Given the description of an element on the screen output the (x, y) to click on. 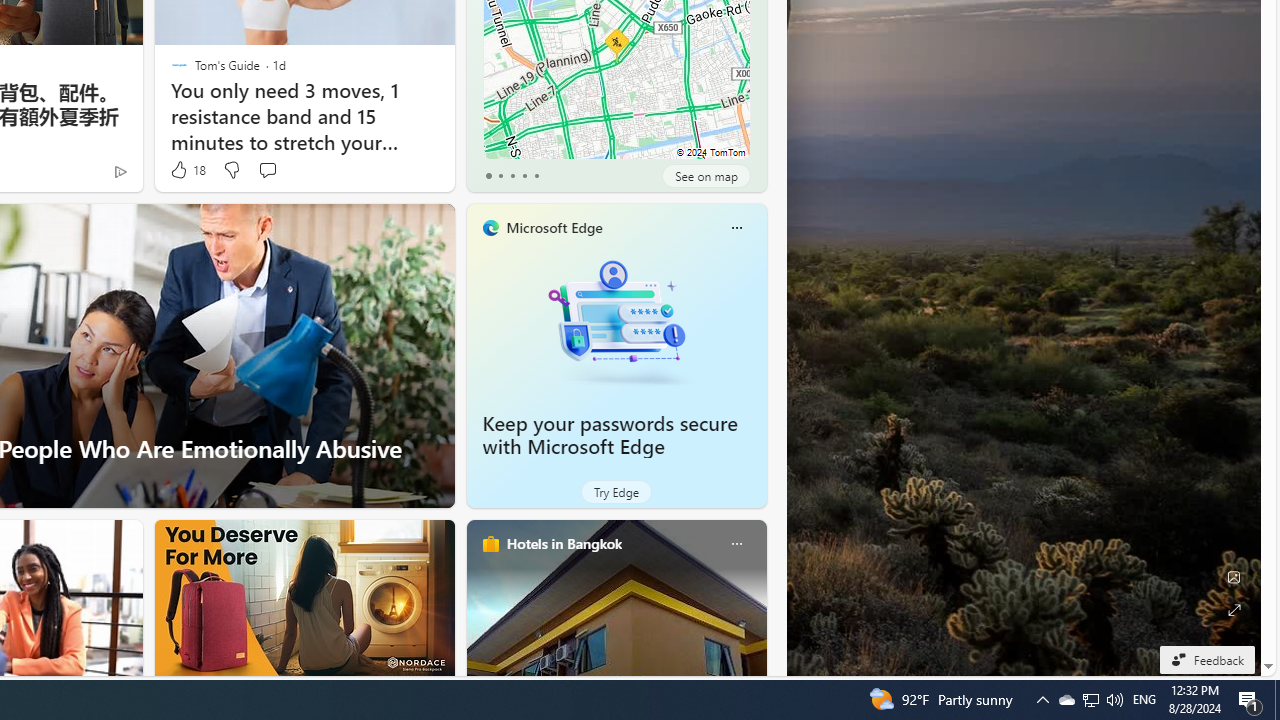
tab-0 (488, 175)
tab-3 (524, 175)
tab-4 (535, 175)
Dislike (230, 170)
hotels-header-icon (490, 543)
Keep your passwords secure with Microsoft Edge (610, 435)
Microsoft Edge (553, 227)
